Given the description of an element on the screen output the (x, y) to click on. 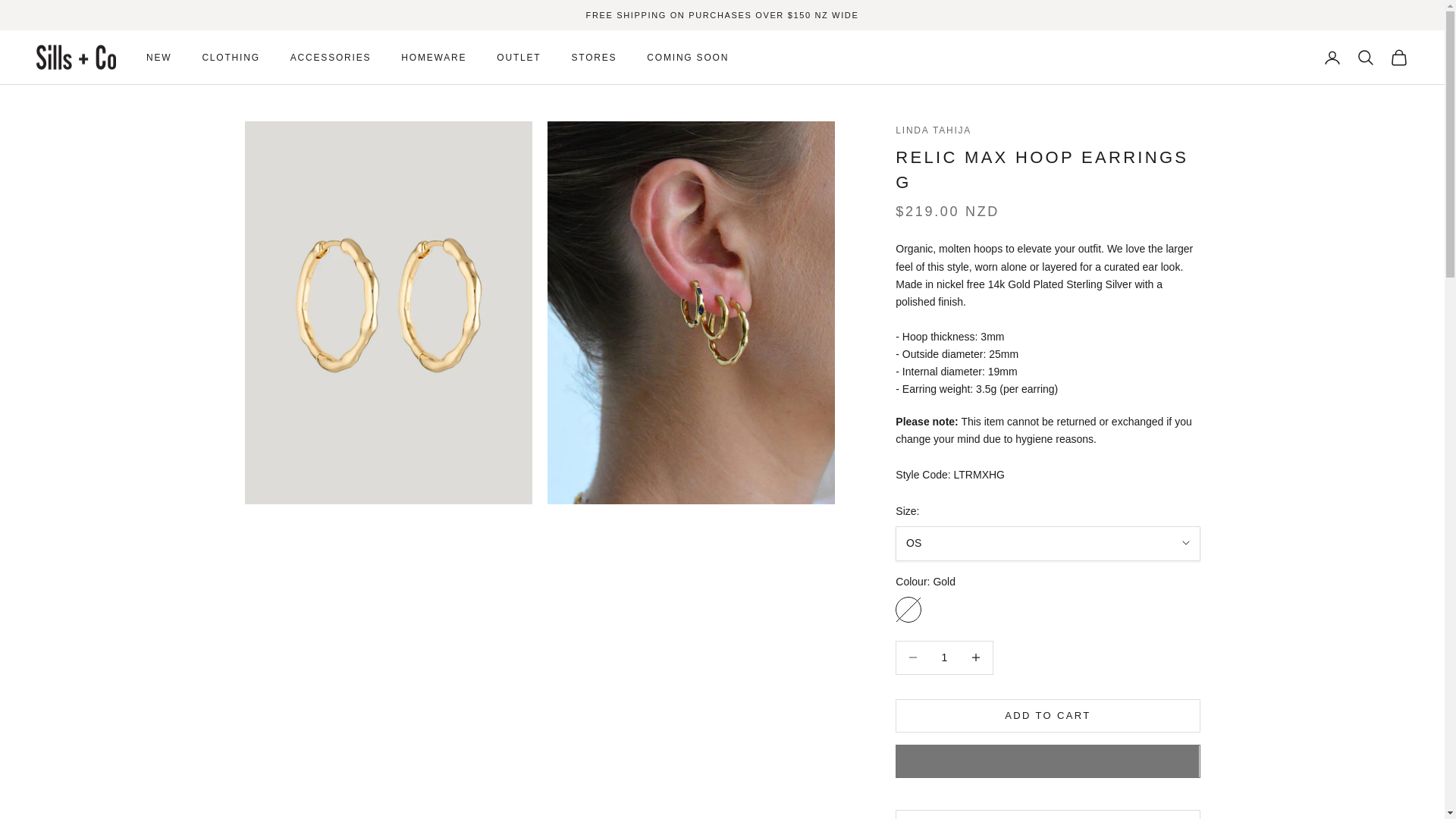
NEW (159, 57)
1 (943, 657)
